Given the description of an element on the screen output the (x, y) to click on. 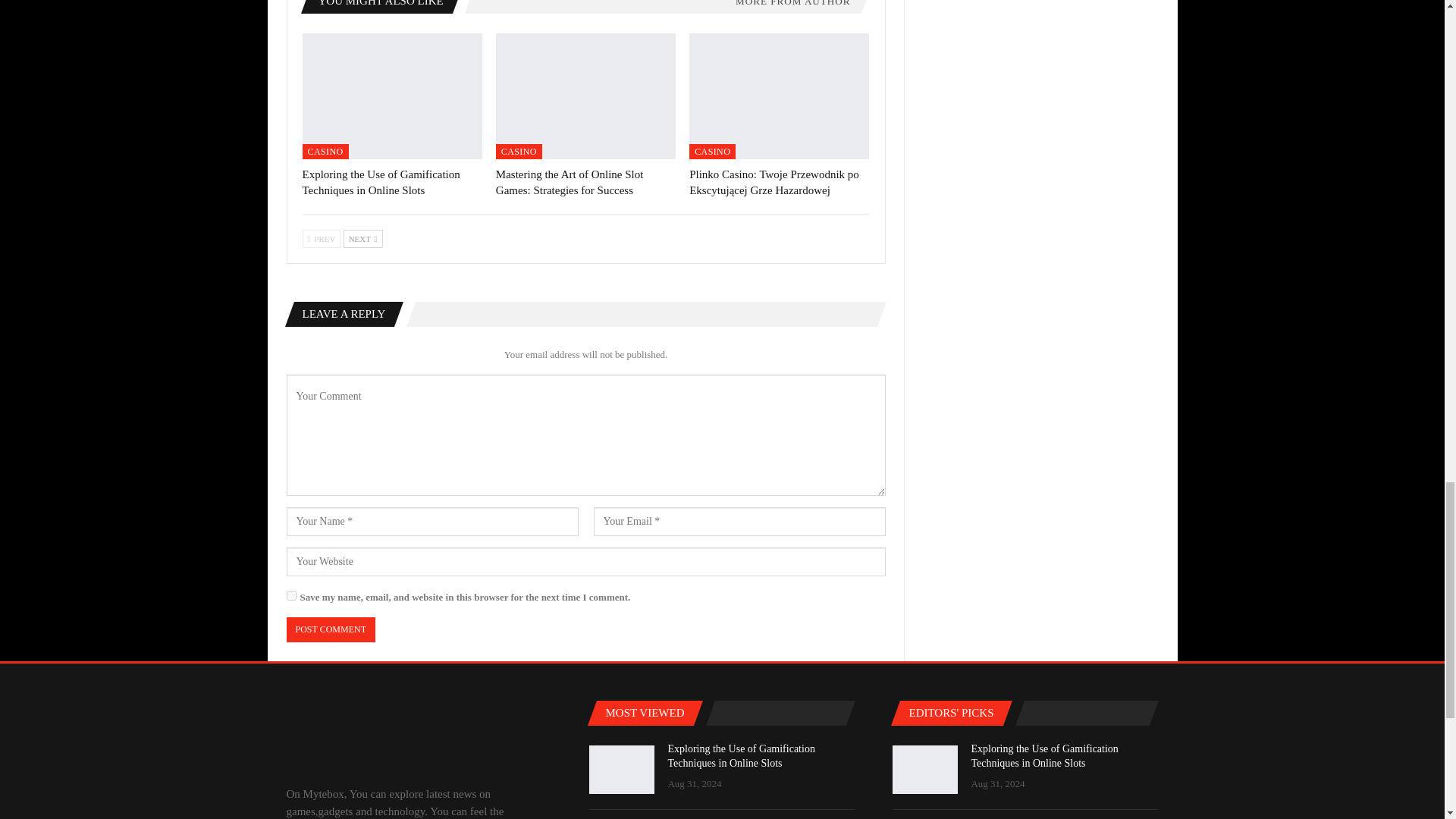
Exploring the Use of Gamification Techniques in Online Slots (380, 182)
Exploring the Use of Gamification Techniques in Online Slots (391, 95)
yes (291, 595)
Post Comment (330, 629)
